Given the description of an element on the screen output the (x, y) to click on. 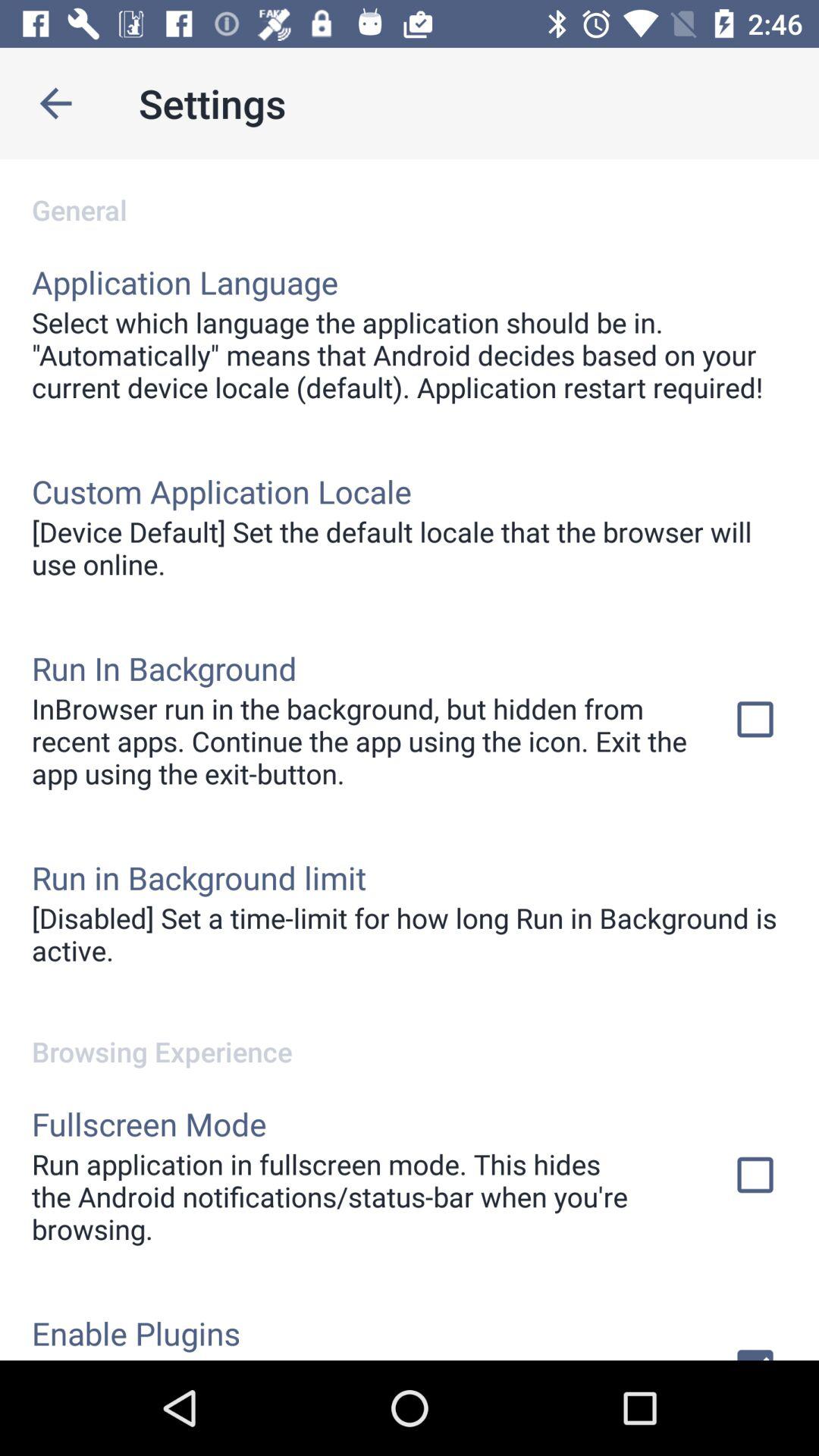
tap app above custom application locale app (409, 354)
